Given the description of an element on the screen output the (x, y) to click on. 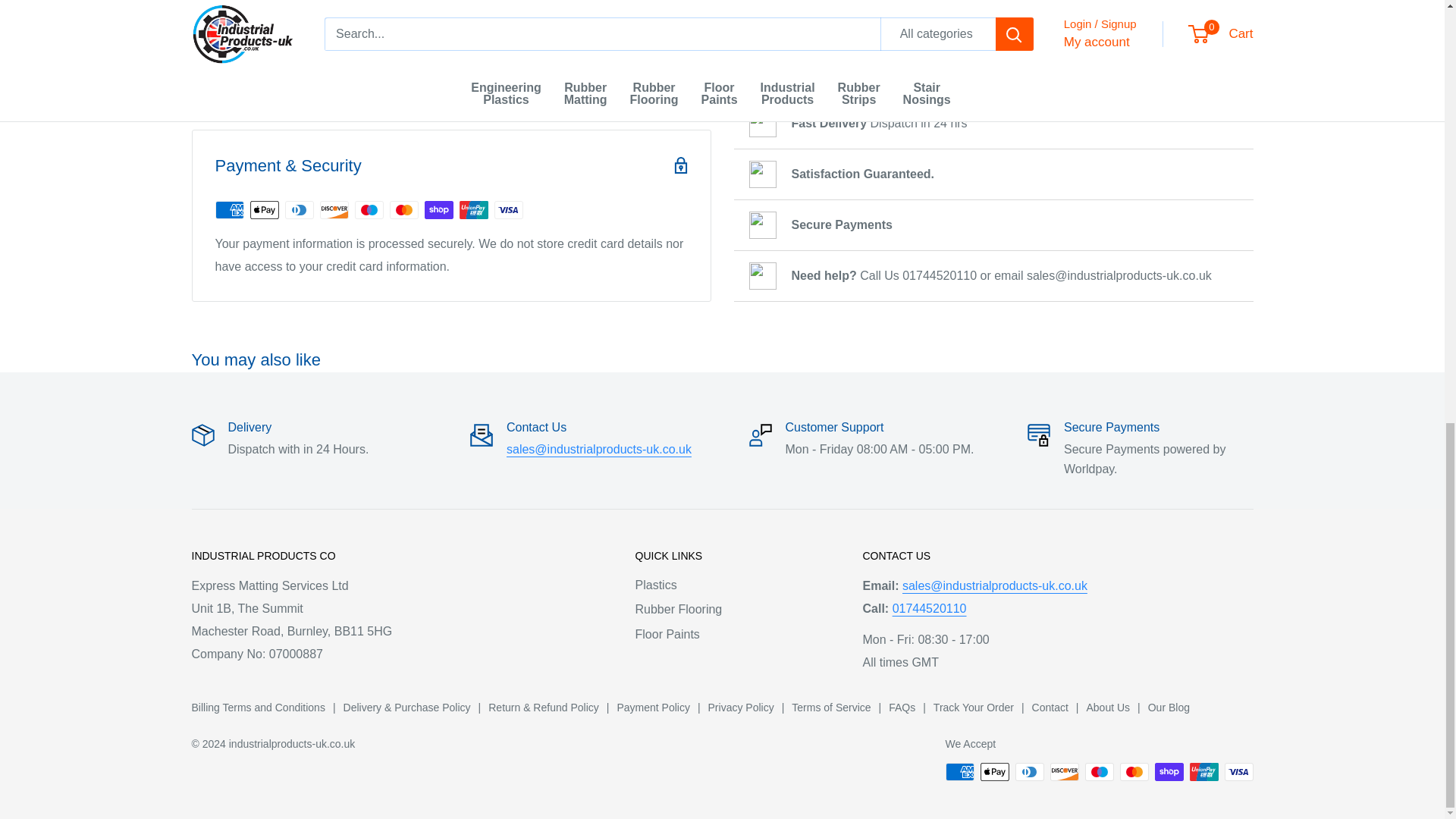
tel:01744520110 (929, 608)
